Given the description of an element on the screen output the (x, y) to click on. 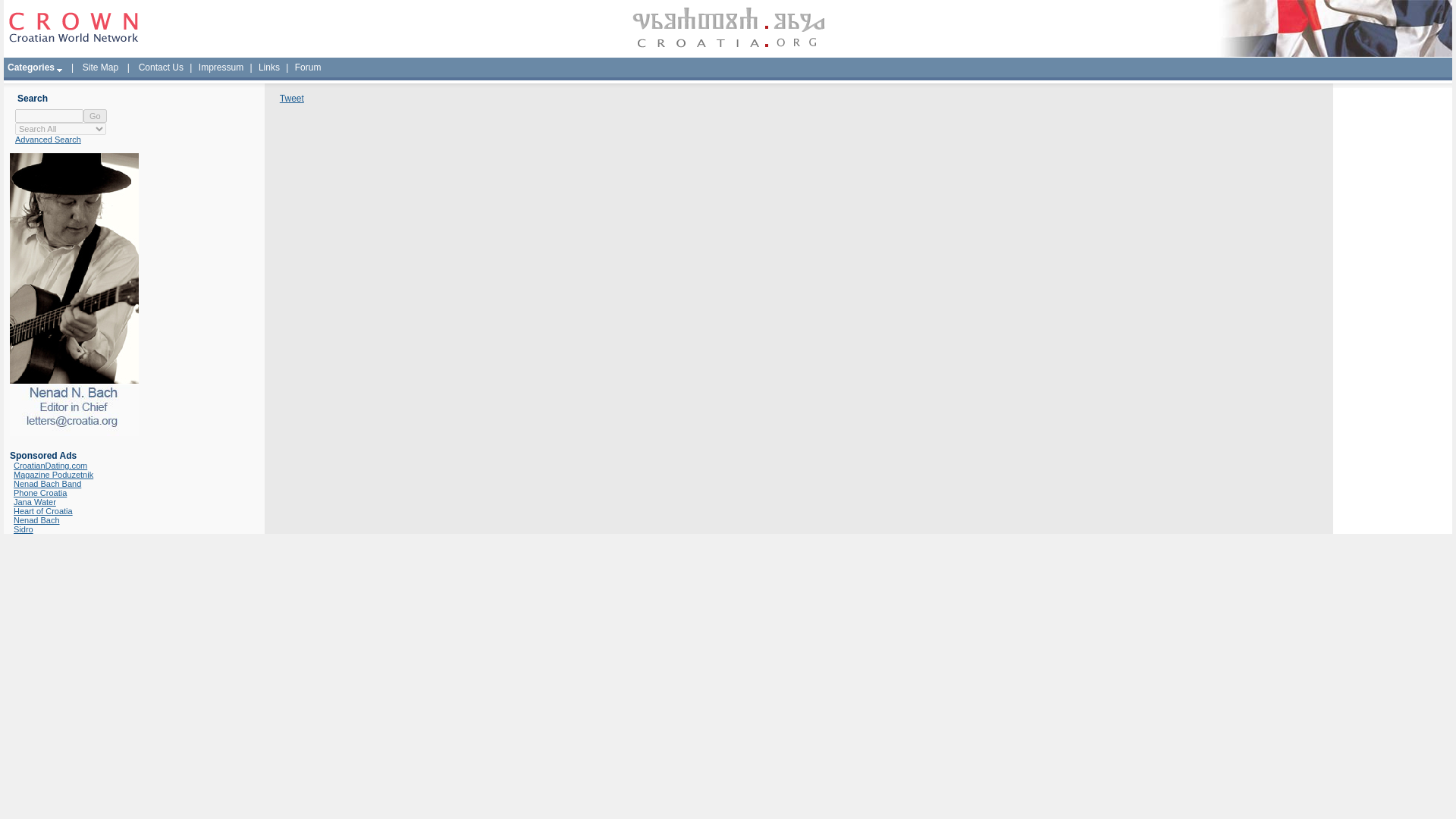
Categories  (34, 67)
Nenad Bach Band (47, 483)
Advanced Search (47, 139)
Impressum (221, 67)
Sidro (23, 528)
Tweet (291, 98)
Go (94, 115)
Go (94, 115)
Site Map (100, 67)
Heart of Croatia (42, 510)
